Given the description of an element on the screen output the (x, y) to click on. 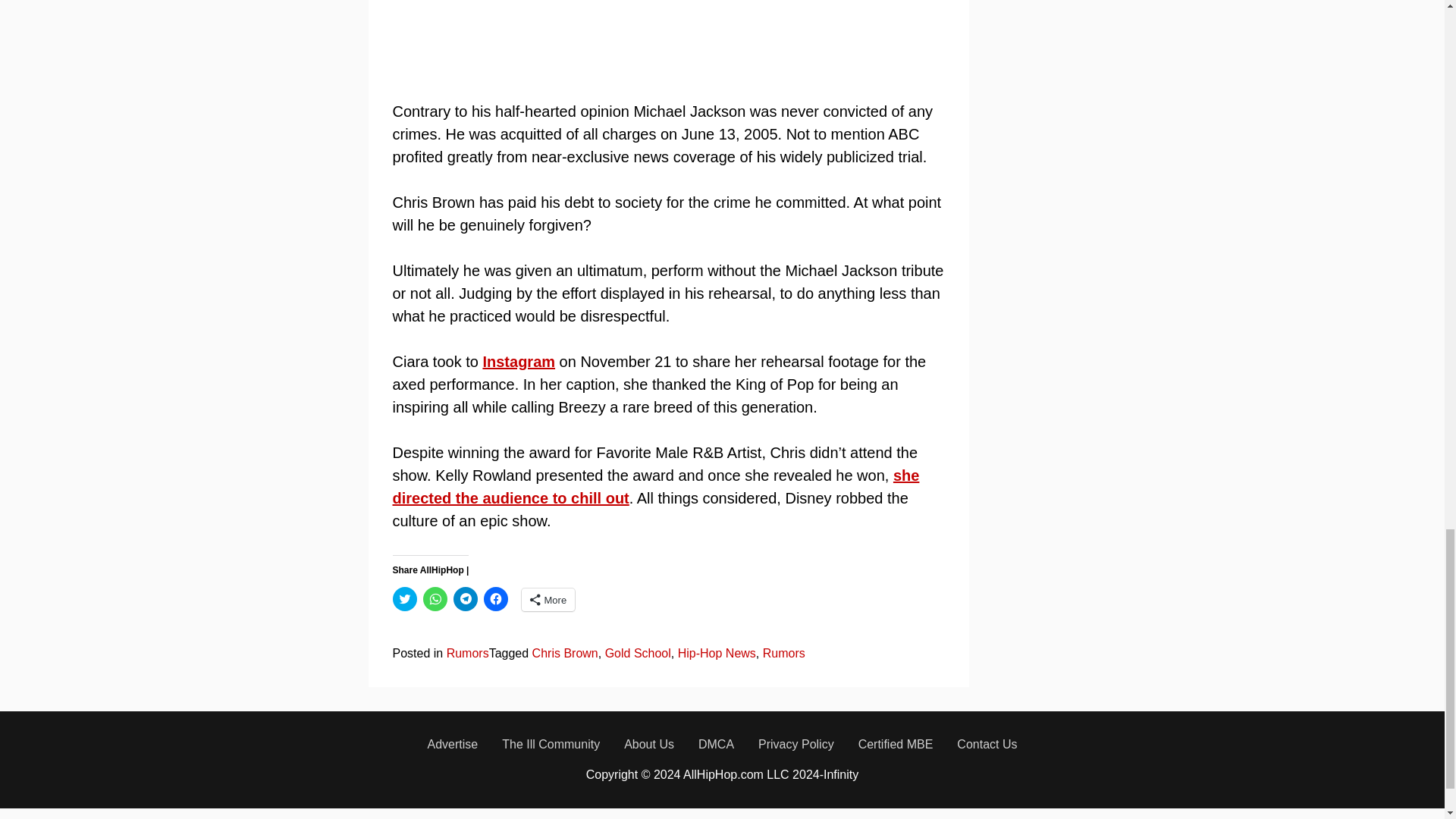
Click to share on WhatsApp (434, 598)
Click to share on Telegram (464, 598)
Click to share on Facebook (495, 598)
YouTube player (668, 39)
Click to share on Twitter (404, 598)
